Given the description of an element on the screen output the (x, y) to click on. 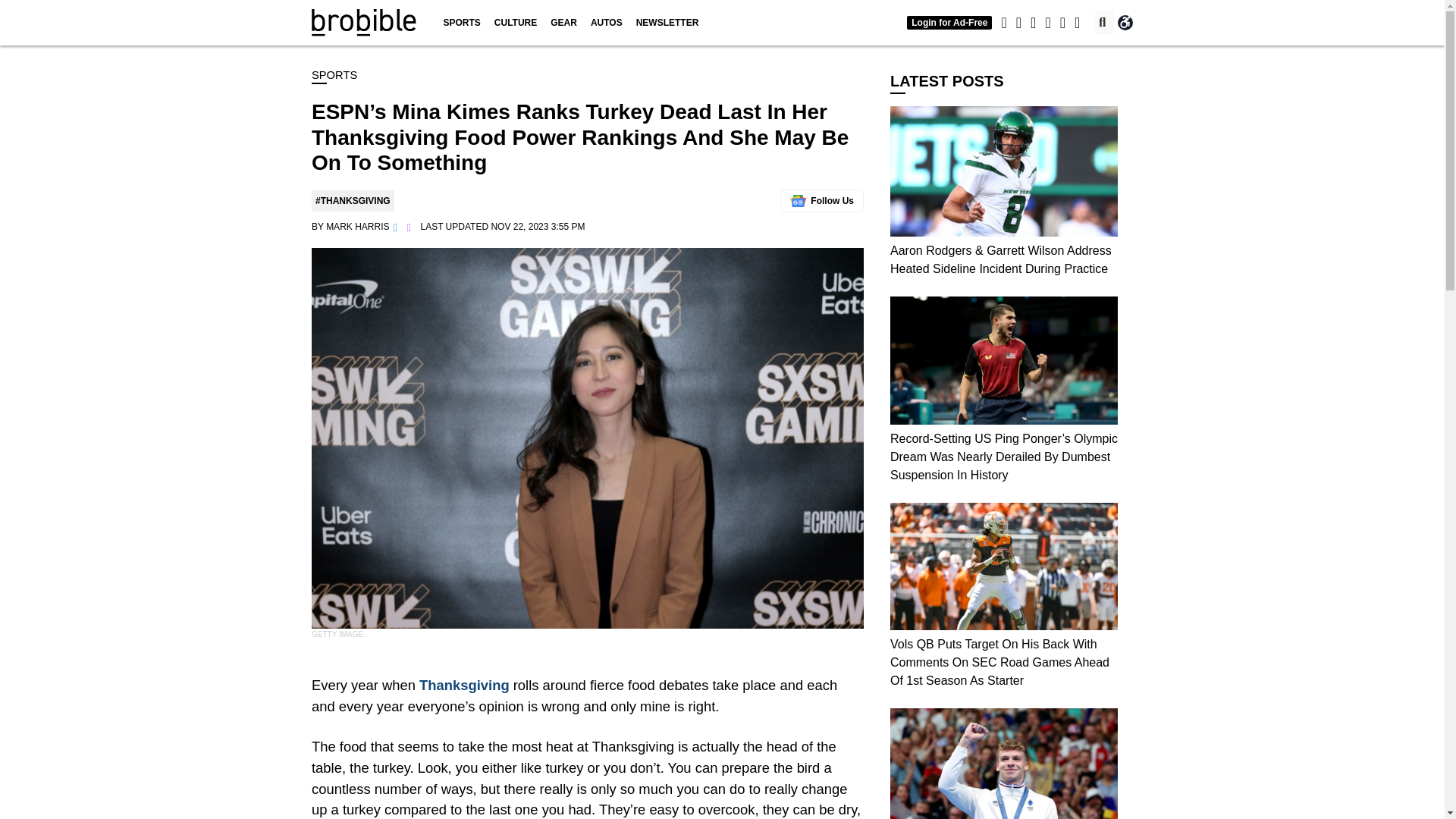
Follow us on Google News (821, 200)
Login for Ad-Free (949, 22)
SPORTS (460, 22)
CULTURE (515, 22)
Posts by Mark Harris (357, 226)
Accessibility (1125, 22)
